Given the description of an element on the screen output the (x, y) to click on. 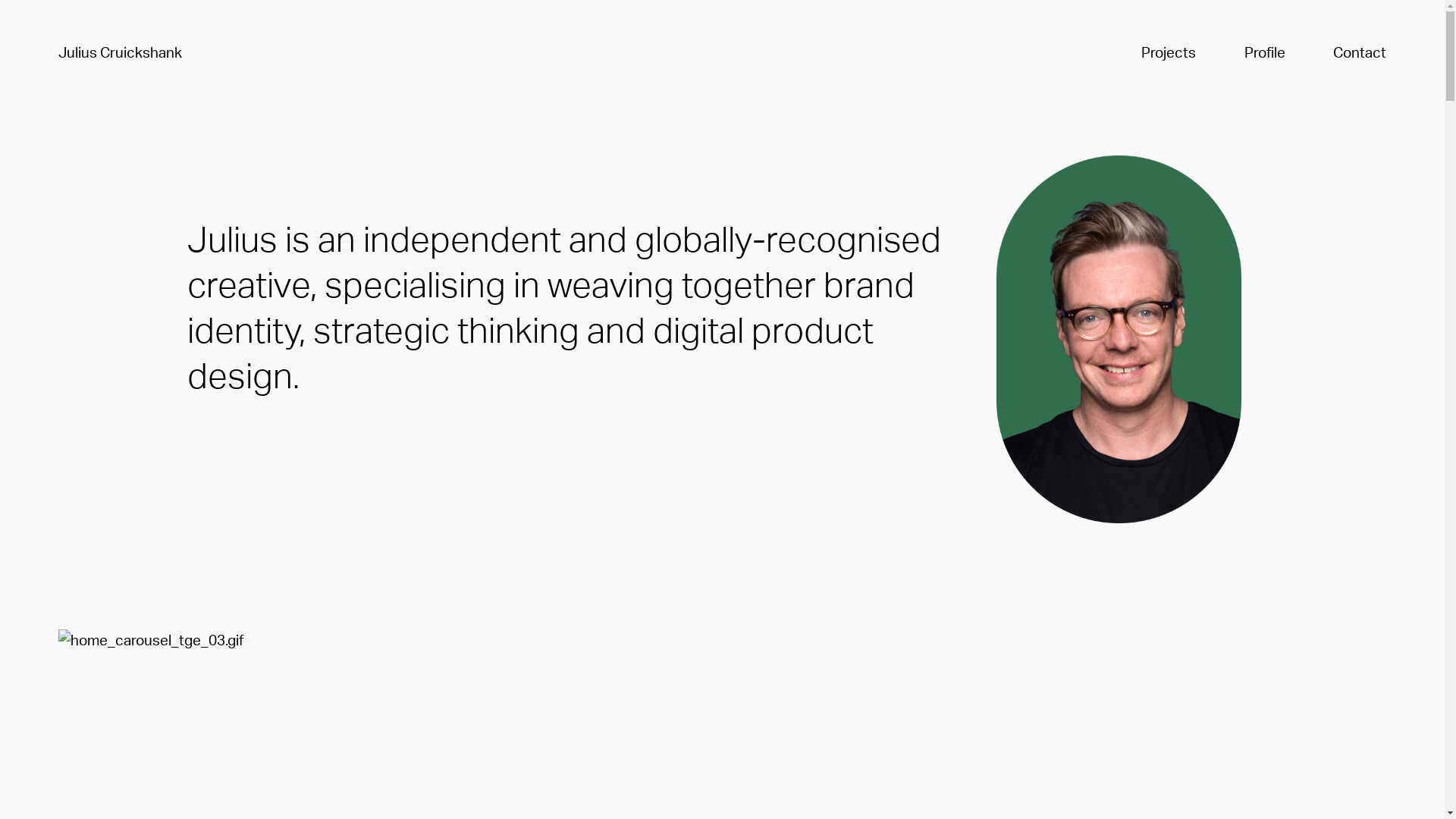
Projects Element type: text (1168, 53)
Profile Element type: text (1264, 53)
Julius Cruickshank Element type: text (120, 53)
Contact Element type: text (1359, 53)
